Given the description of an element on the screen output the (x, y) to click on. 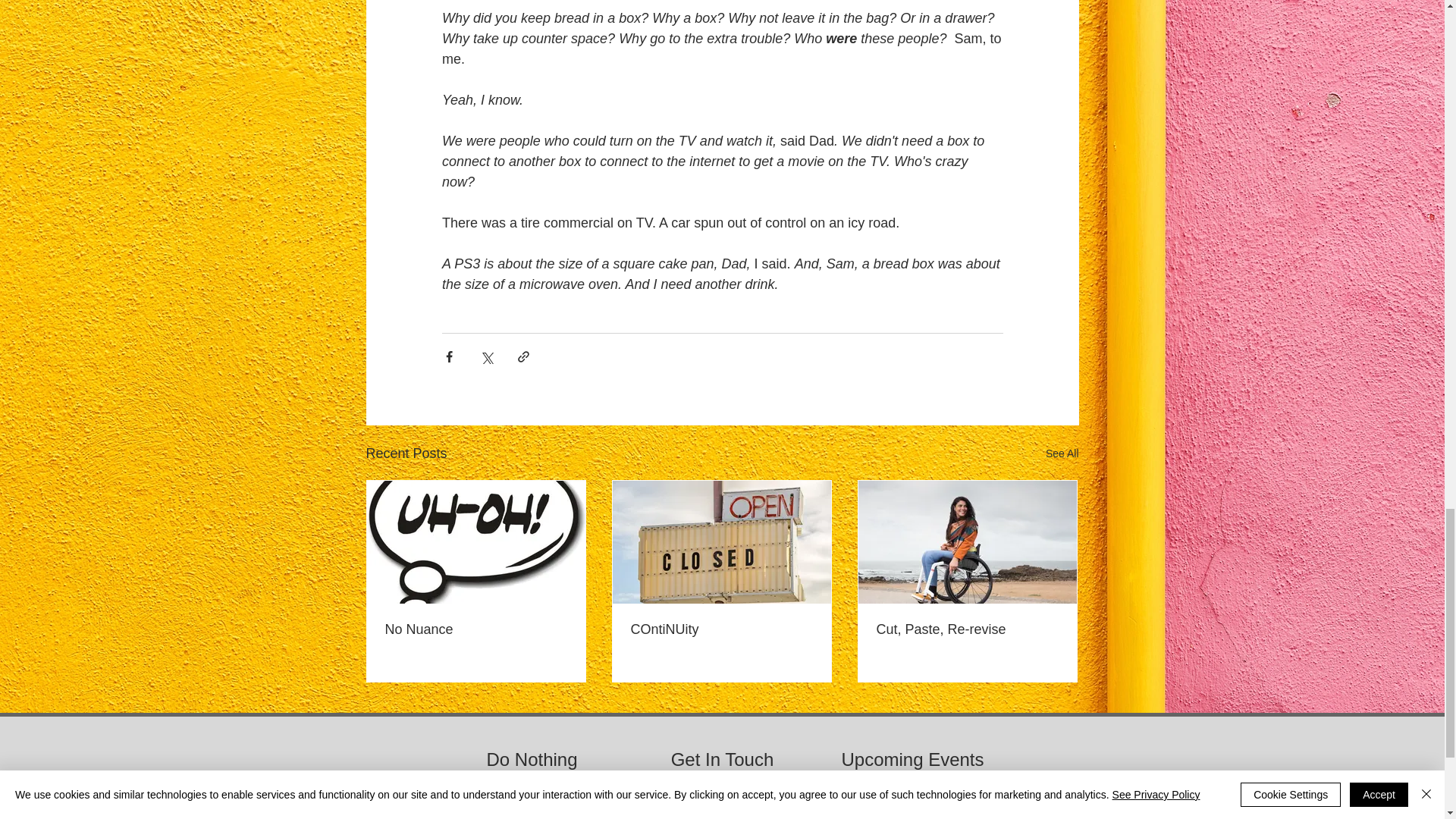
Nothing (531, 803)
COntiNUity (721, 629)
Contact (720, 803)
Calendar (912, 803)
No Nuance (476, 629)
Cut, Paste, Re-revise (967, 629)
See All (1061, 454)
